Given the description of an element on the screen output the (x, y) to click on. 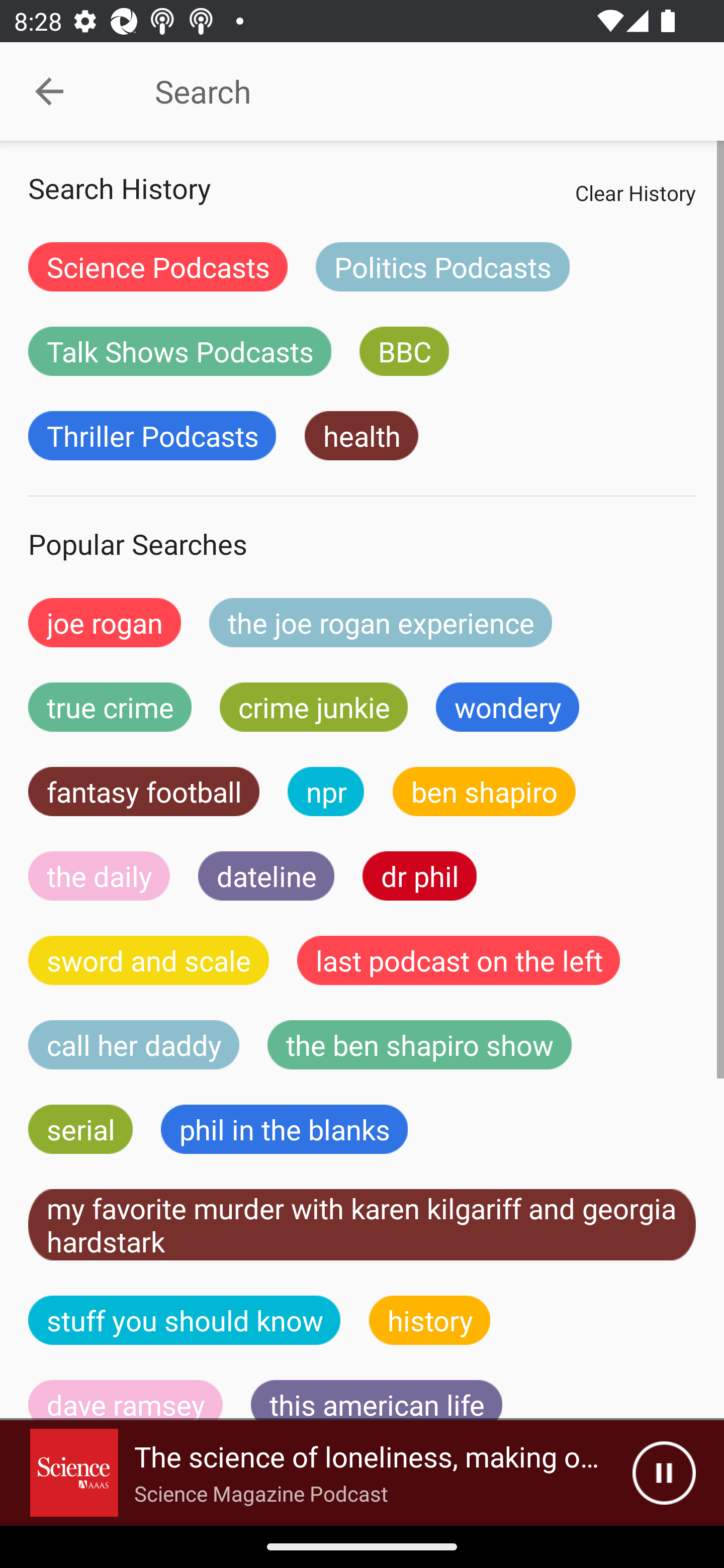
Collapse (49, 91)
Search (407, 91)
Clear History (634, 192)
Science Podcasts (157, 266)
Politics Podcasts (442, 266)
Talk Shows Podcasts (179, 351)
BBC (403, 351)
Thriller Podcasts (152, 435)
health (361, 435)
joe rogan (104, 622)
the joe rogan experience (380, 622)
true crime (109, 707)
crime junkie (313, 707)
wondery (507, 707)
fantasy football (143, 791)
npr (325, 791)
ben shapiro (483, 791)
the daily (99, 875)
dateline (266, 875)
dr phil (419, 875)
sword and scale (148, 960)
last podcast on the left (458, 960)
call her daddy (133, 1044)
the ben shapiro show (419, 1044)
serial (80, 1128)
phil in the blanks (283, 1128)
stuff you should know (184, 1320)
history (429, 1320)
dave ramsey (125, 1399)
this american life (376, 1399)
Pause (663, 1472)
